Given the description of an element on the screen output the (x, y) to click on. 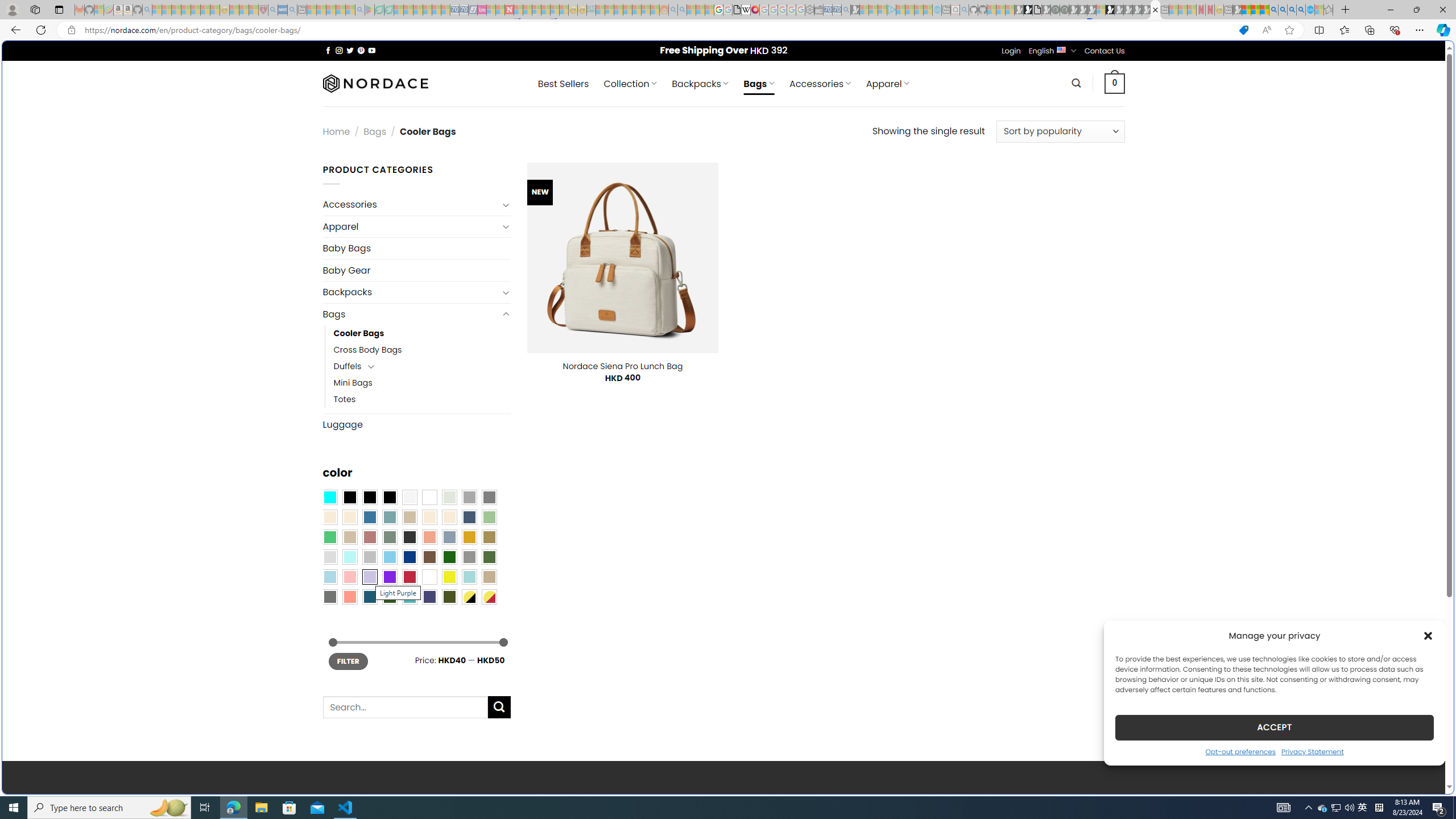
Light Purple (369, 577)
Gray (468, 557)
google_privacy_policy_zh-CN.pdf (736, 9)
Brown (429, 557)
Rose (369, 536)
Terms of Use Agreement - Sleeping (378, 9)
Cheap Hotels - Save70.com - Sleeping (463, 9)
Utah sues federal government - Search - Sleeping (681, 9)
Mint (349, 557)
Search for: (404, 707)
Purple (389, 577)
